Given the description of an element on the screen output the (x, y) to click on. 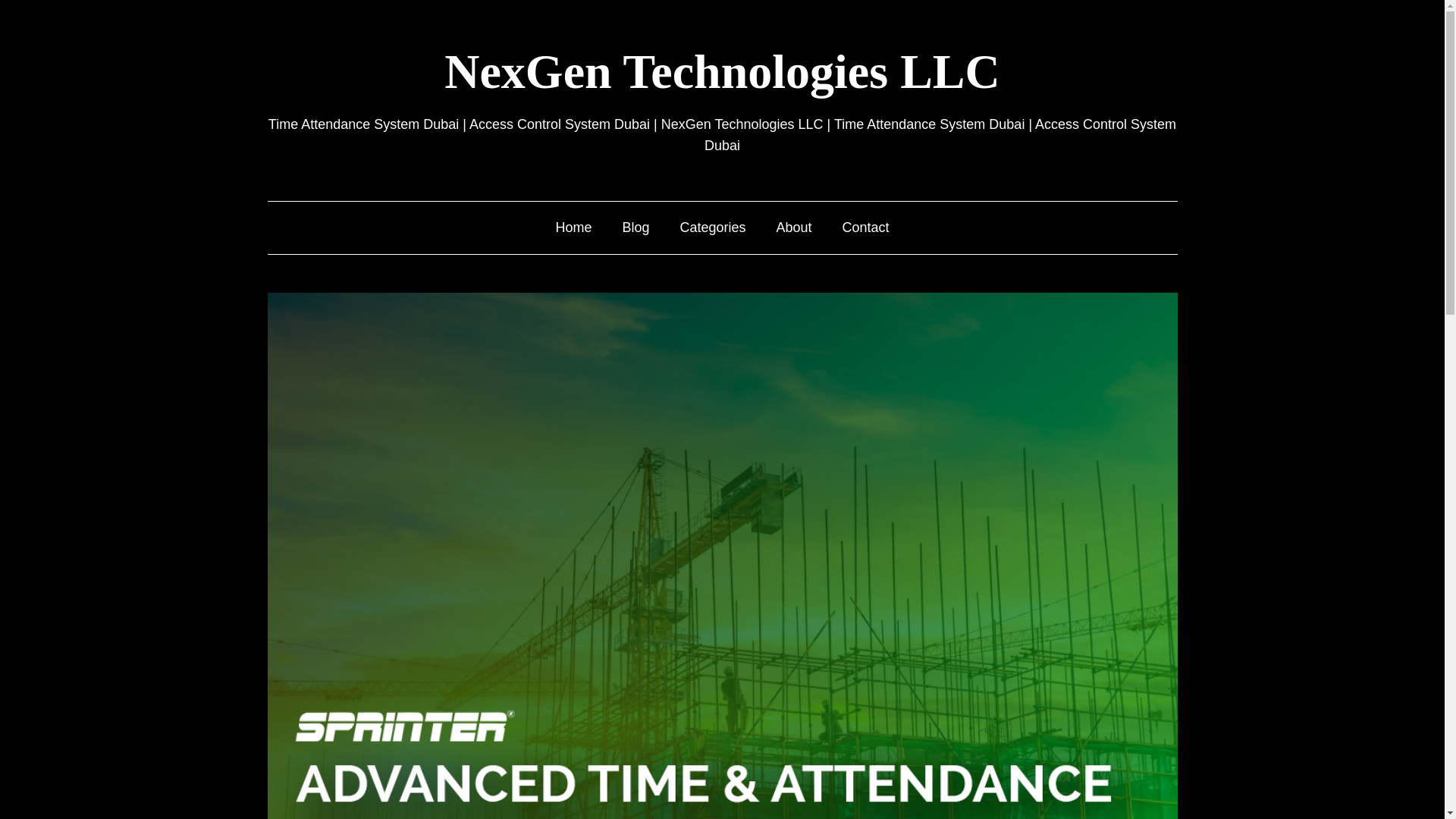
Home (572, 228)
Blog (635, 228)
NexGen Technologies LLC (722, 71)
About (794, 228)
Contact (866, 228)
Categories (712, 228)
